Given the description of an element on the screen output the (x, y) to click on. 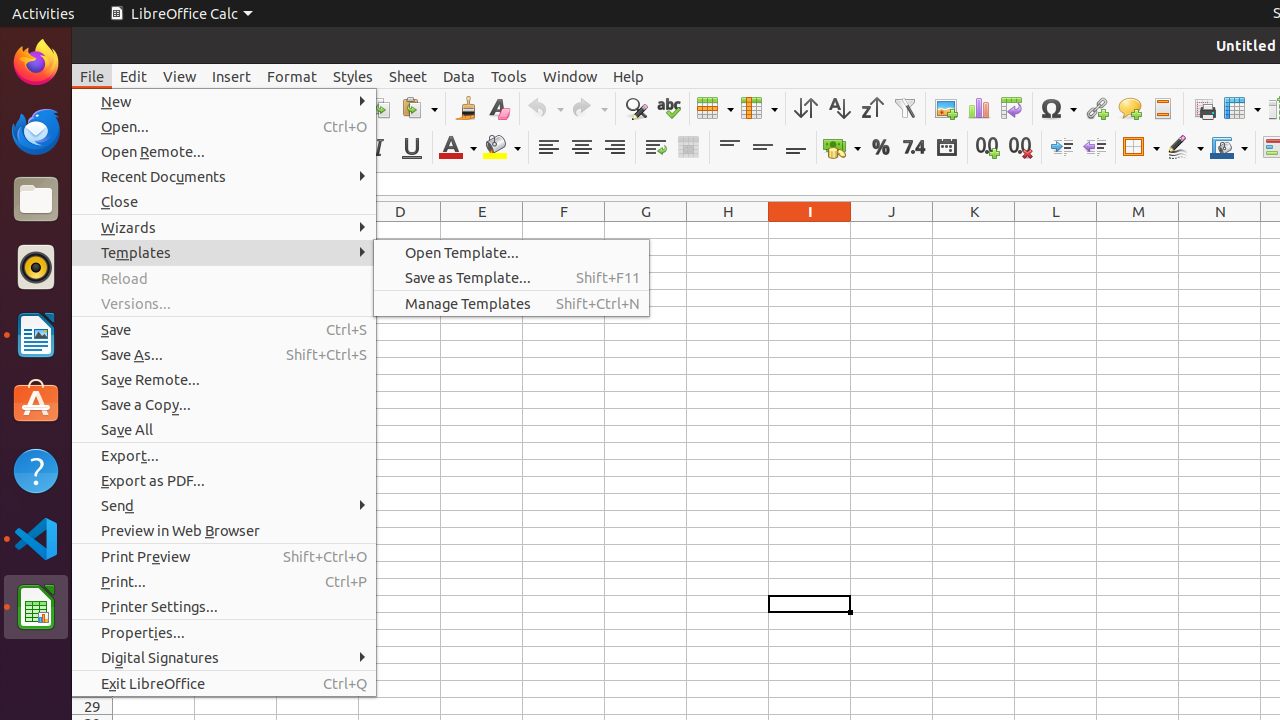
L1 Element type: table-cell (1056, 230)
Styles Element type: menu (353, 76)
Digital Signatures Element type: menu (224, 657)
Border Color Element type: push-button (1229, 147)
